Given the description of an element on the screen output the (x, y) to click on. 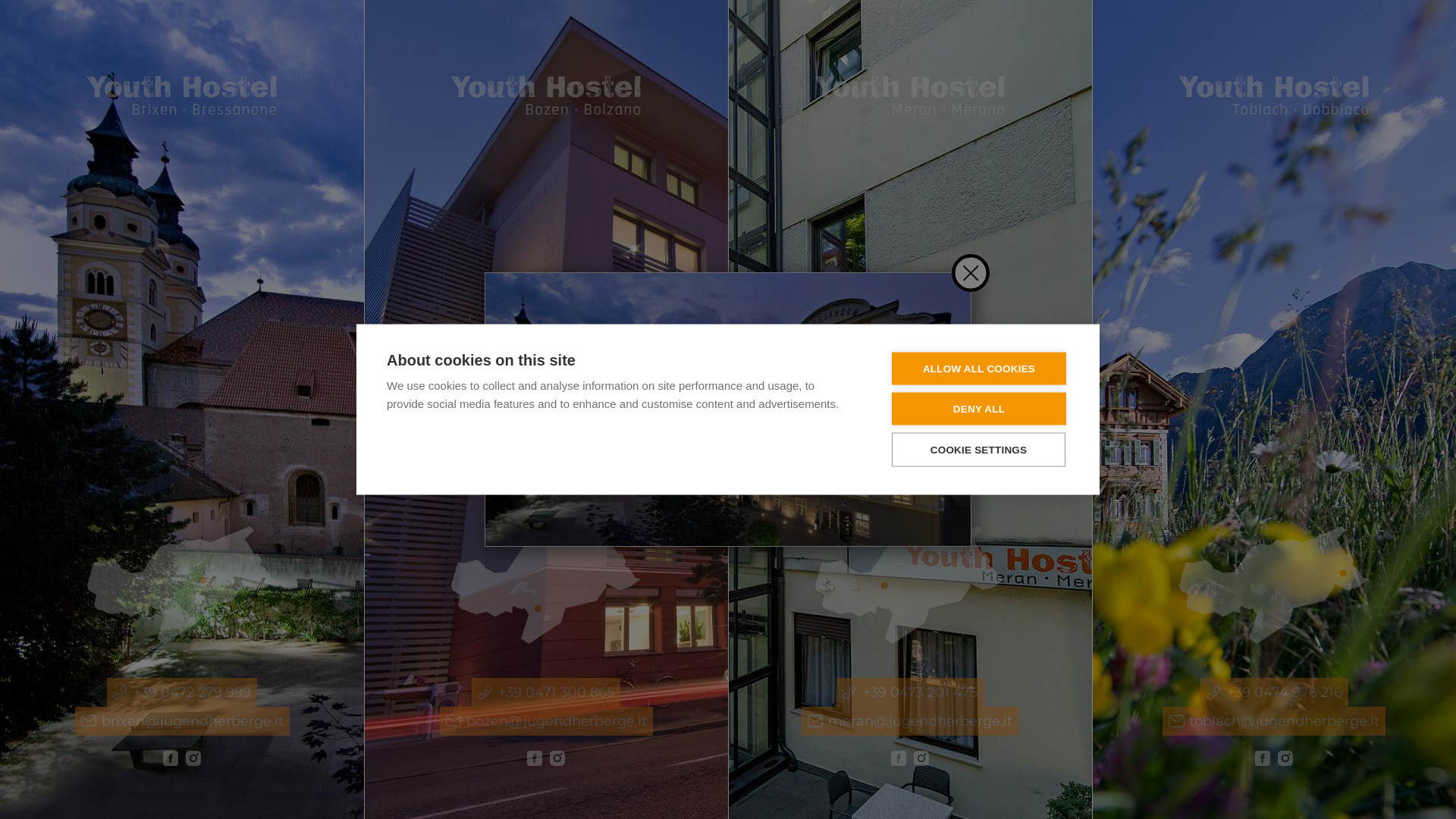
Jugendherberge Meran Element type: hover (898, 757)
Jugendherberge Toblach Element type: hover (1273, 94)
Jugendherberge Toblach Element type: hover (557, 757)
bozen@jugendherberge.it Element type: text (545, 720)
Facebook Element type: hover (1429, 590)
Instagram Element type: hover (1429, 564)
+39 0473 201 475 Element type: text (909, 691)
COOKIE SETTINGS Element type: text (978, 449)
DENY ALL Element type: text (978, 408)
Jugendherberge Toblach Element type: hover (193, 757)
+39 0474 976 216 Element type: text (1273, 691)
Jugendherberge Brixen Element type: hover (181, 584)
brixen@jugendherberge.it Element type: text (181, 720)
meran@jugendherberge.it Element type: text (909, 720)
Jugendherberge Meran Element type: hover (909, 94)
+39 0471 300 865 Element type: text (545, 691)
Jugendherberge Bozen Element type: hover (545, 94)
Jugendherberge Brixen Element type: hover (170, 757)
Jugendherberge Bozen Element type: hover (534, 757)
Jugendherberge Brixen Element type: hover (181, 94)
ALLOW ALL COOKIES Element type: text (978, 367)
+39 0472 279 999 Element type: text (181, 691)
Jugendherberge Toblach Element type: hover (1262, 757)
Jugendherberge Toblach Element type: hover (921, 757)
Jugendherberge Bozen Element type: hover (545, 584)
Jugendherberge Toblach Element type: hover (1273, 584)
Jugendherberge Meran Element type: hover (909, 584)
toblach@jugendherberge.it Element type: text (1273, 720)
Jugendherberge Toblach Element type: hover (1285, 757)
